Given the description of an element on the screen output the (x, y) to click on. 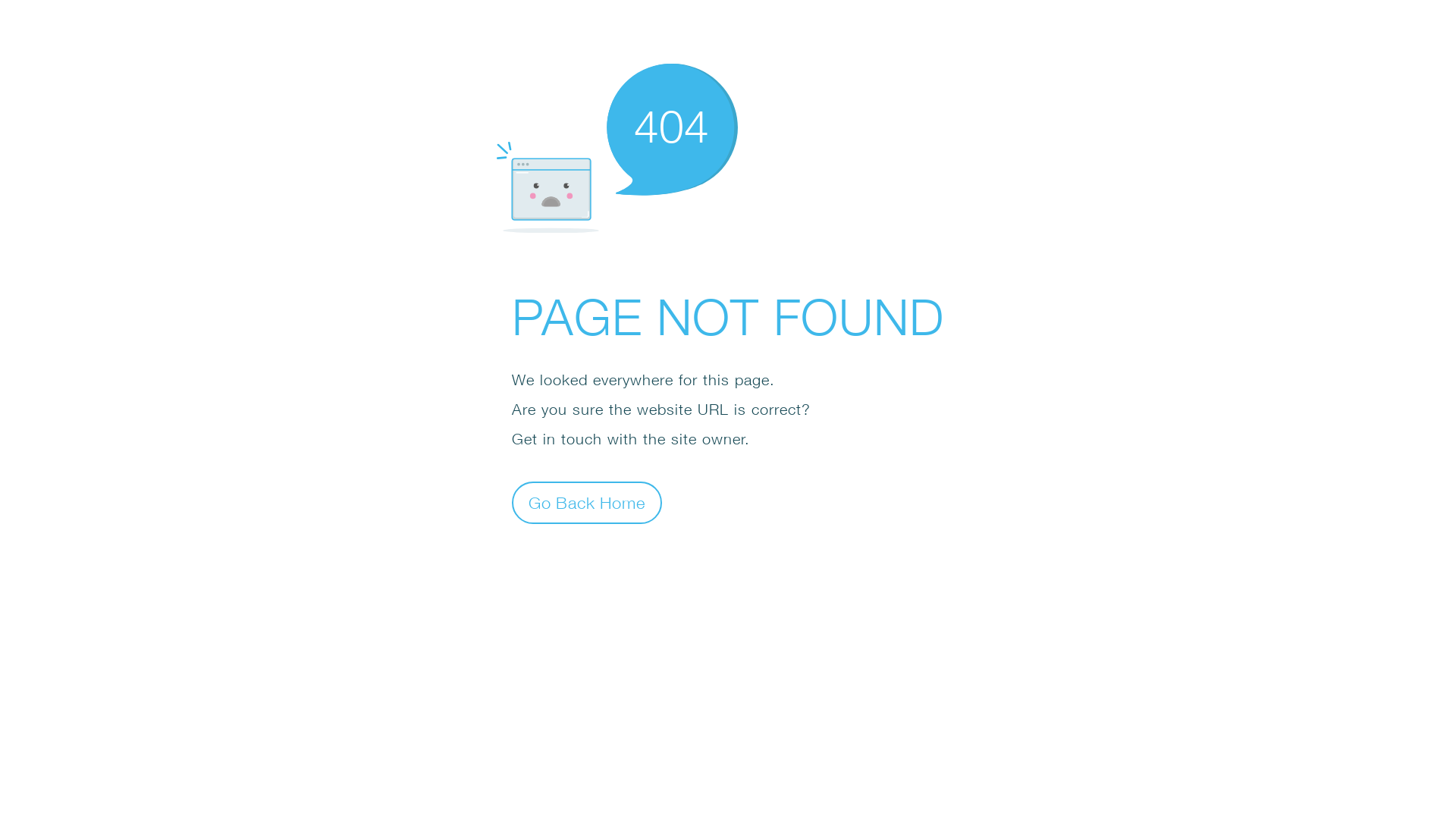
Go Back Home Element type: text (586, 502)
